Given the description of an element on the screen output the (x, y) to click on. 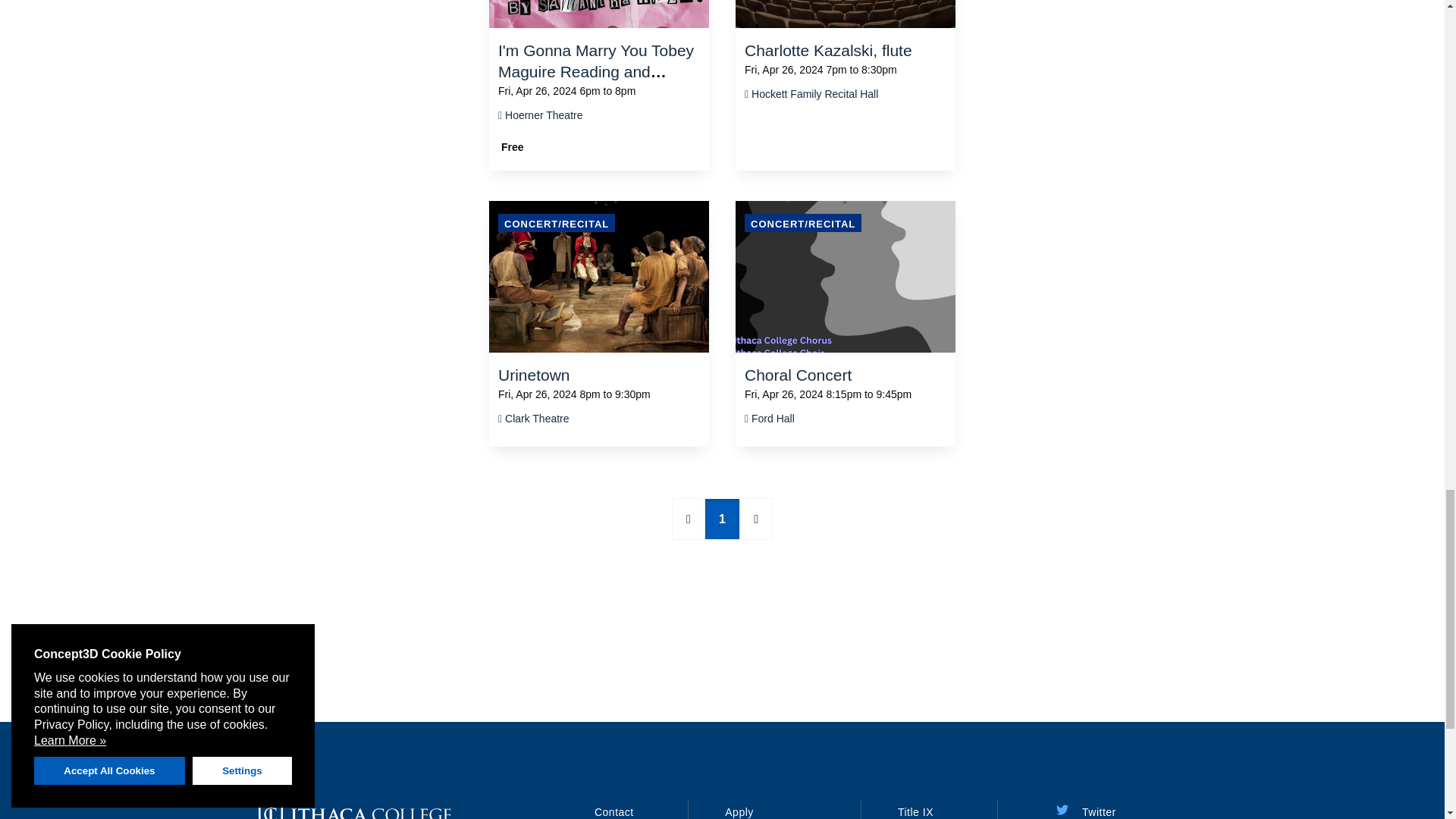
twitter icon Created with Sketch. (1062, 809)
Contact Ithaca College (613, 811)
Apply to Ithaca College (739, 811)
Title IX information (915, 811)
